Given the description of an element on the screen output the (x, y) to click on. 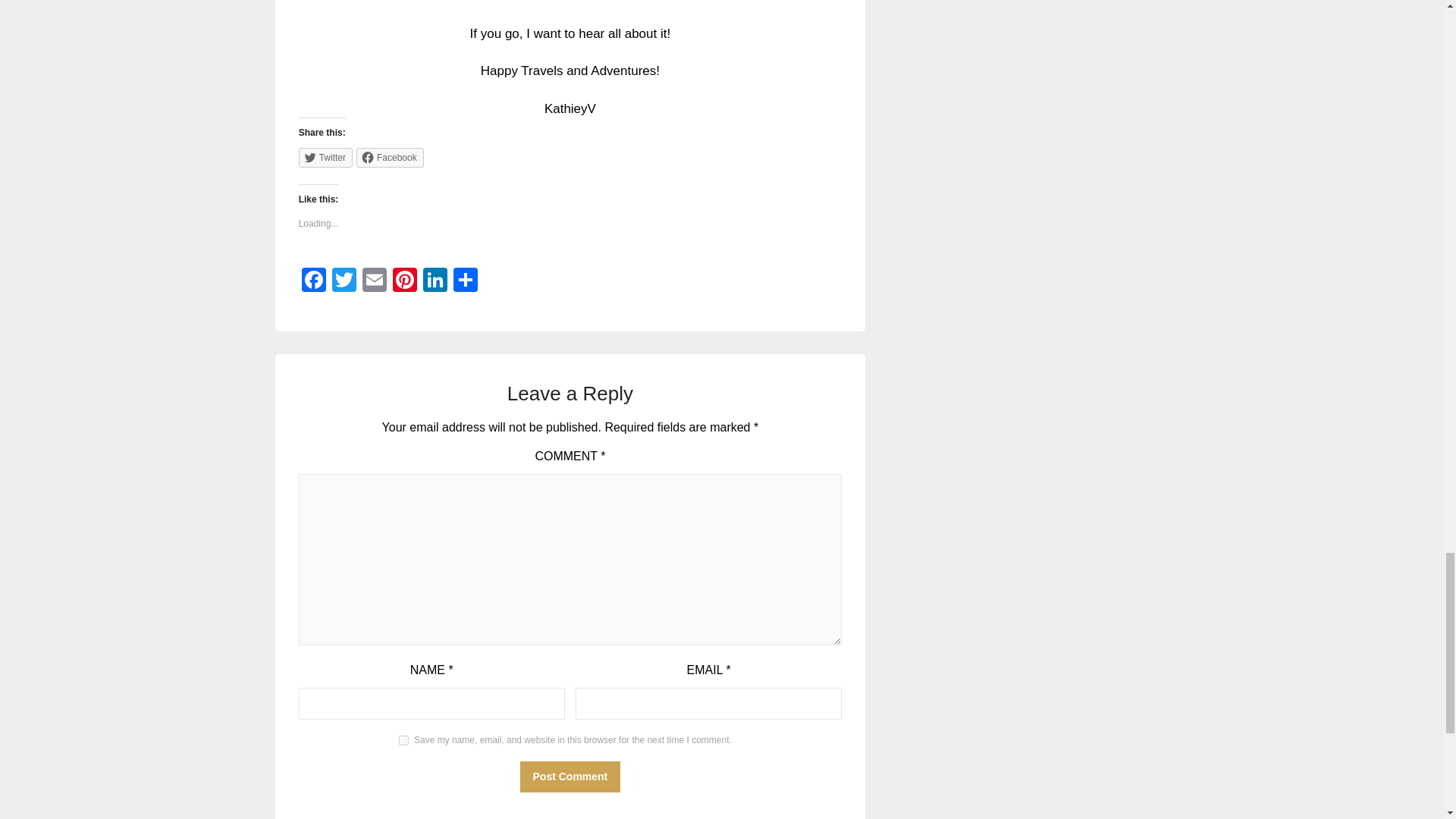
Facebook (389, 157)
Pinterest (405, 281)
Email (374, 281)
Post Comment (570, 776)
Post Comment (570, 776)
Email (374, 281)
Click to share on Facebook (389, 157)
Click to share on Twitter (325, 157)
Twitter (344, 281)
Facebook (313, 281)
LinkedIn (434, 281)
LinkedIn (434, 281)
yes (403, 740)
Share (464, 281)
Twitter (344, 281)
